Given the description of an element on the screen output the (x, y) to click on. 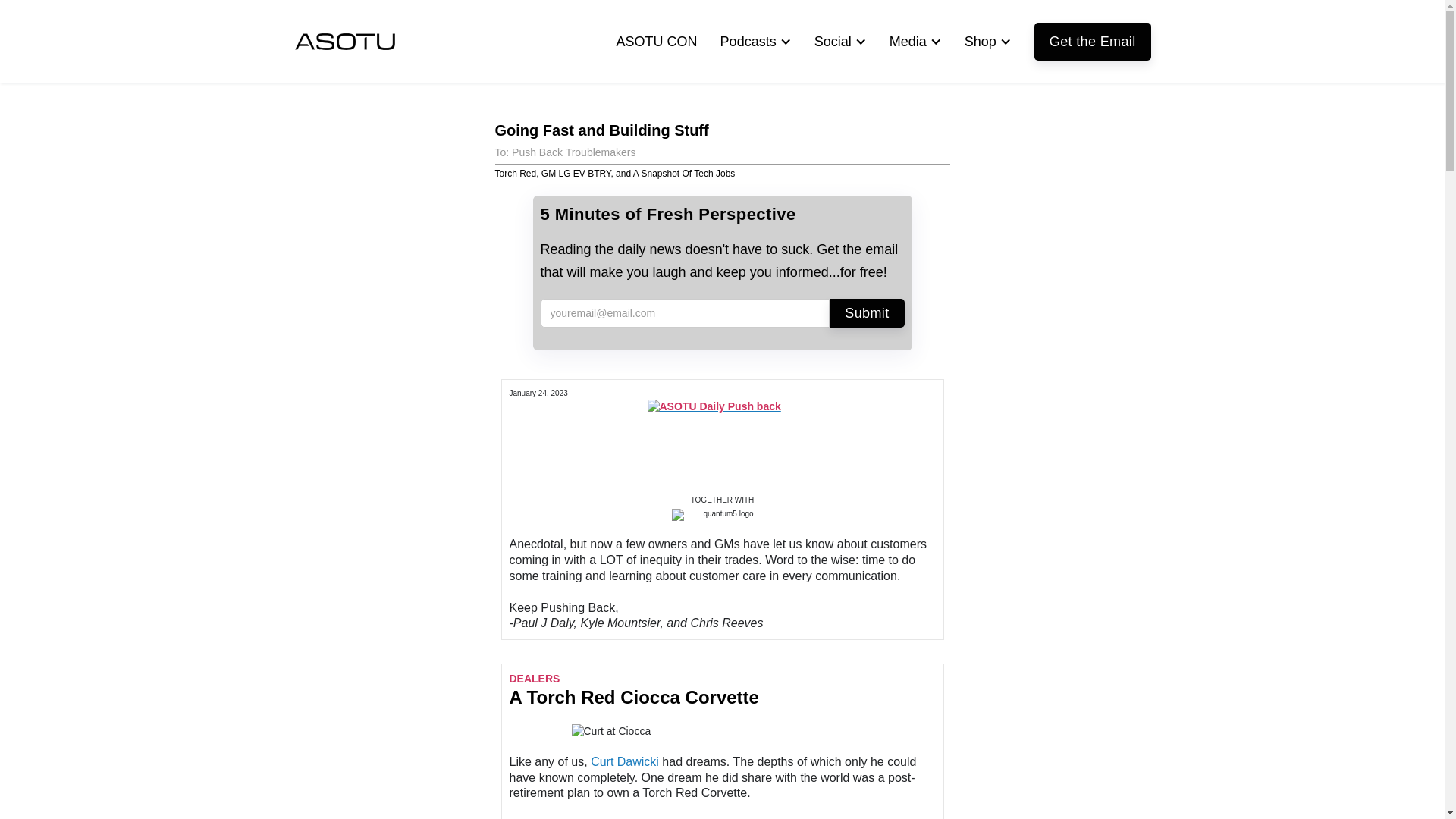
ASOTU CON (657, 41)
Submit (866, 312)
Curt Dawicki (625, 761)
Submit (866, 312)
